Given the description of an element on the screen output the (x, y) to click on. 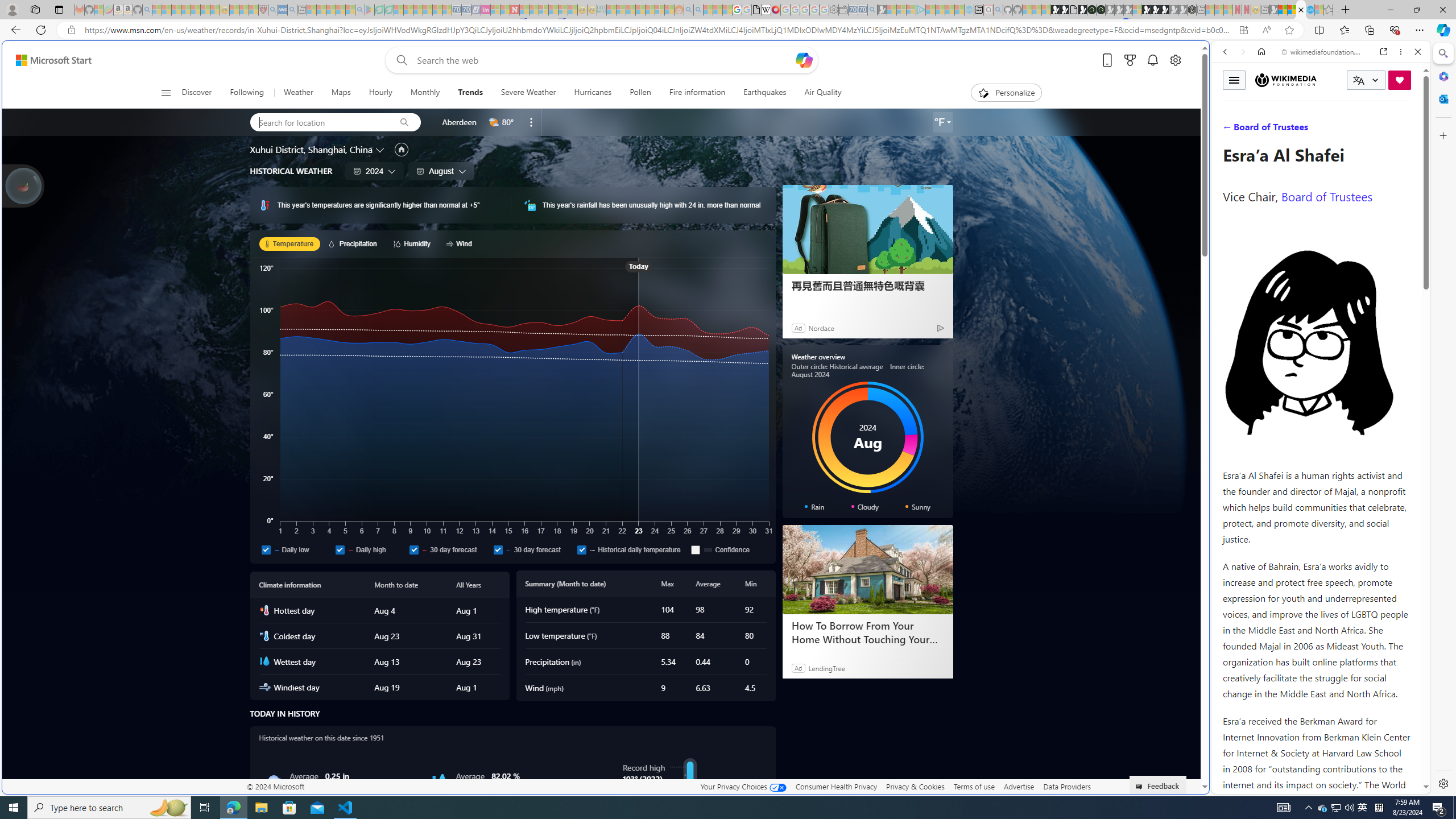
Xuhui District, Shanghai, China (310, 149)
Fire information (697, 92)
